Given the description of an element on the screen output the (x, y) to click on. 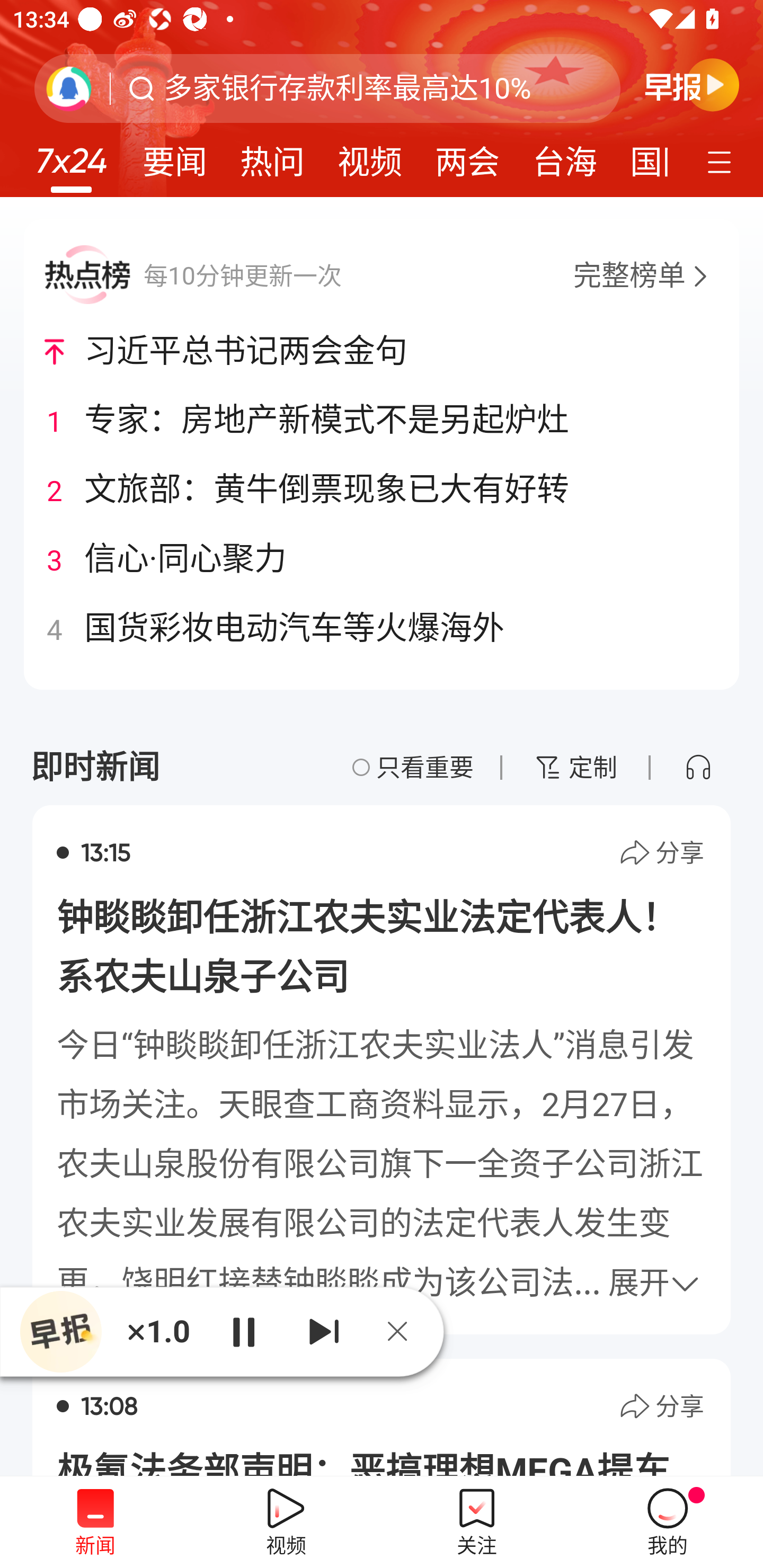
早晚报 (691, 84)
刷新 (68, 88)
多家银行存款利率最高达10% (347, 88)
7x24 (70, 154)
要闻 (174, 155)
热问 (272, 155)
视频 (369, 155)
两会 (466, 155)
台海 (564, 155)
 定制频道 (721, 160)
 (698, 767)
 定制 (575, 767)
只看重要 (412, 767)
 分享 (661, 852)
 播放 (242, 1330)
 下一个 (323, 1330)
播放器 (60, 1331)
 关闭 (404, 1330)
 1.0 (157, 1330)
 分享 (661, 1406)
